Given the description of an element on the screen output the (x, y) to click on. 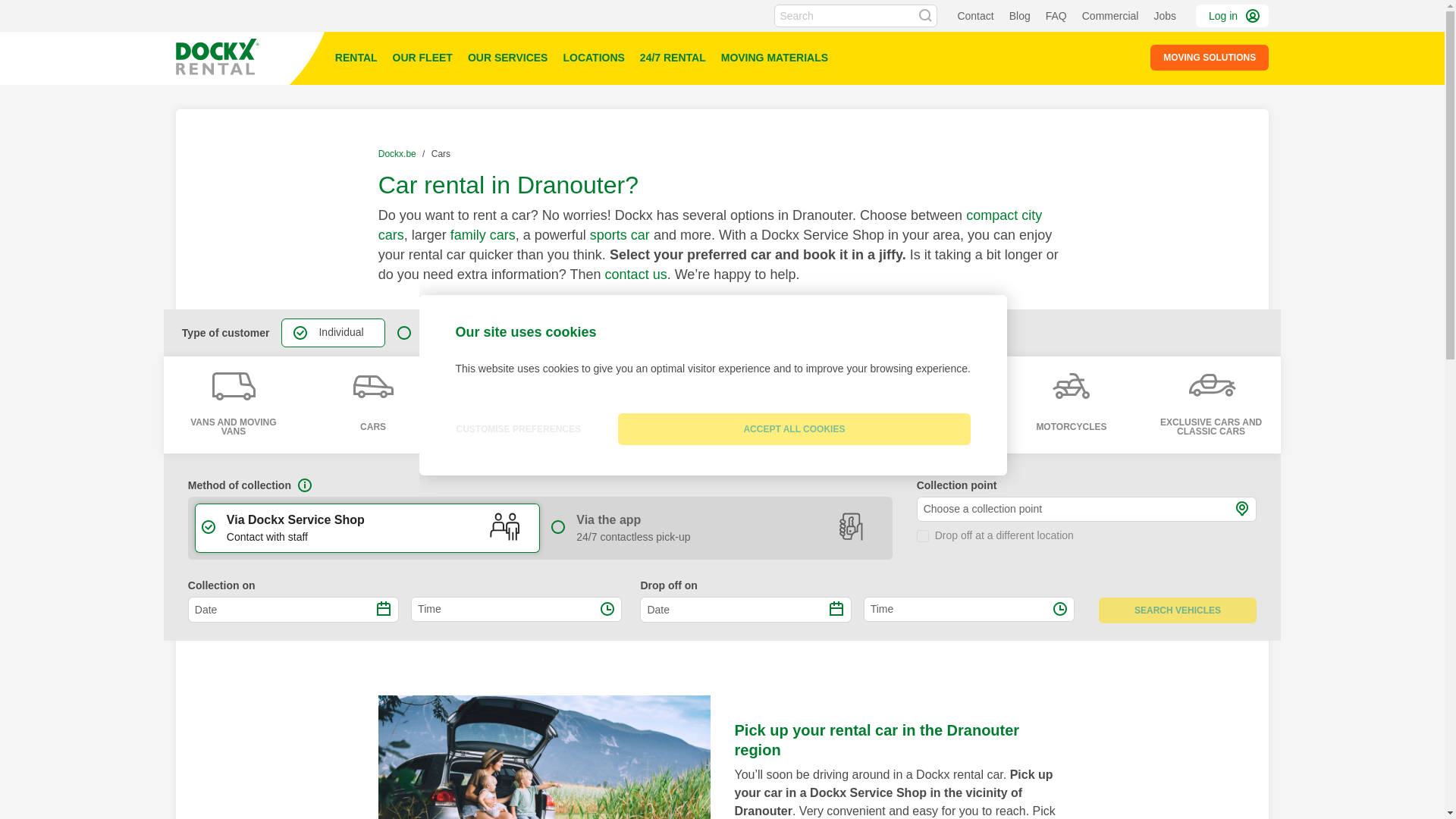
compact city cars (710, 225)
Dockx.be (398, 153)
Dockx Rental (217, 56)
Jobs (1164, 15)
RENTAL (356, 57)
OUR SERVICES (508, 57)
LOCATIONS (592, 57)
FAQ (1056, 15)
MOVING SOLUTIONS (1209, 57)
Cars (439, 153)
SEARCH (925, 15)
Fratello DEMO (251, 57)
